Given the description of an element on the screen output the (x, y) to click on. 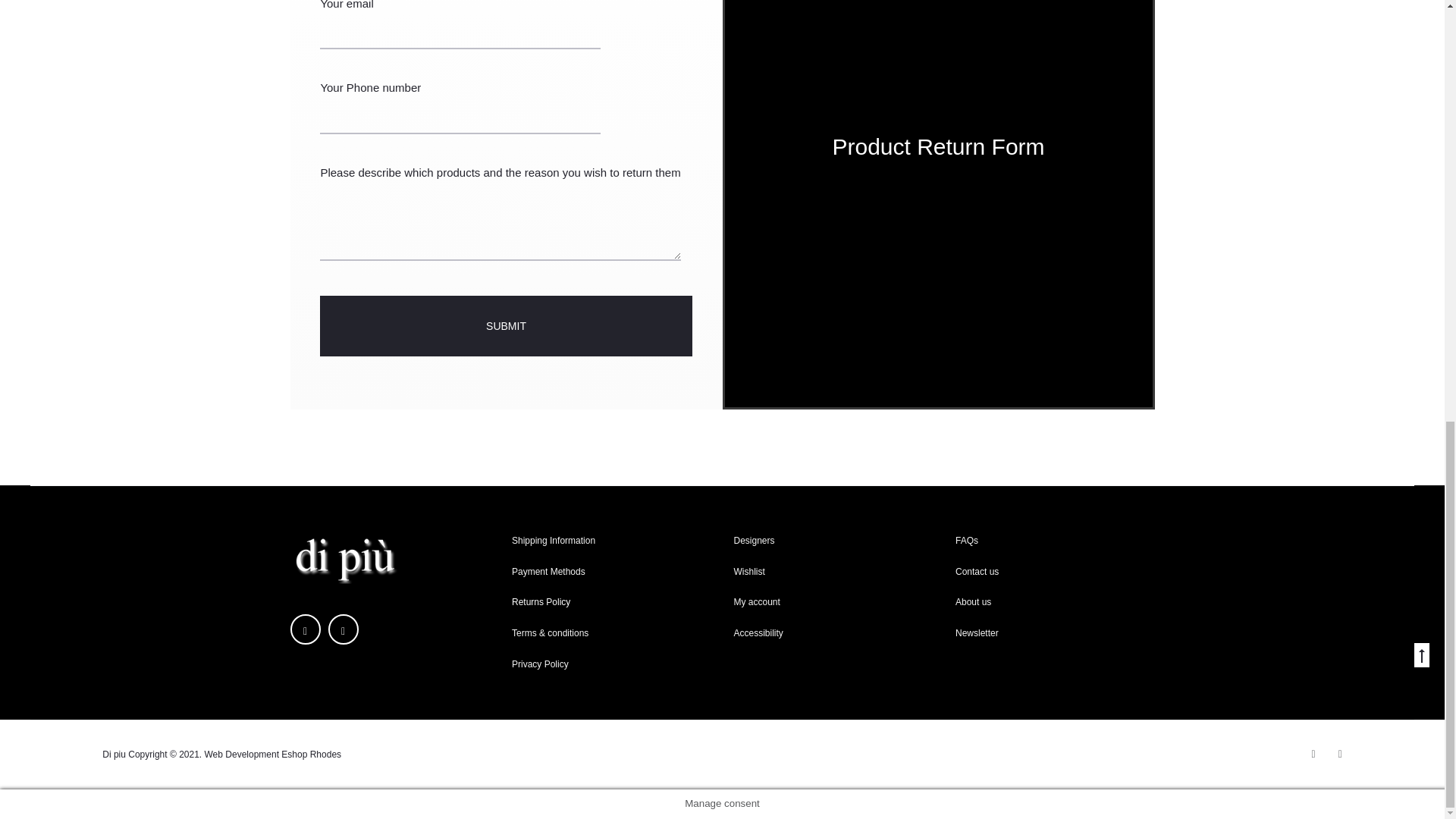
Returns Policy (541, 602)
Payment Methods (548, 571)
Designers (753, 540)
Submit (505, 325)
Instagram (342, 629)
Facebook (304, 629)
Privacy Policy (540, 664)
Shipping Information (553, 540)
Submit (505, 325)
